Given the description of an element on the screen output the (x, y) to click on. 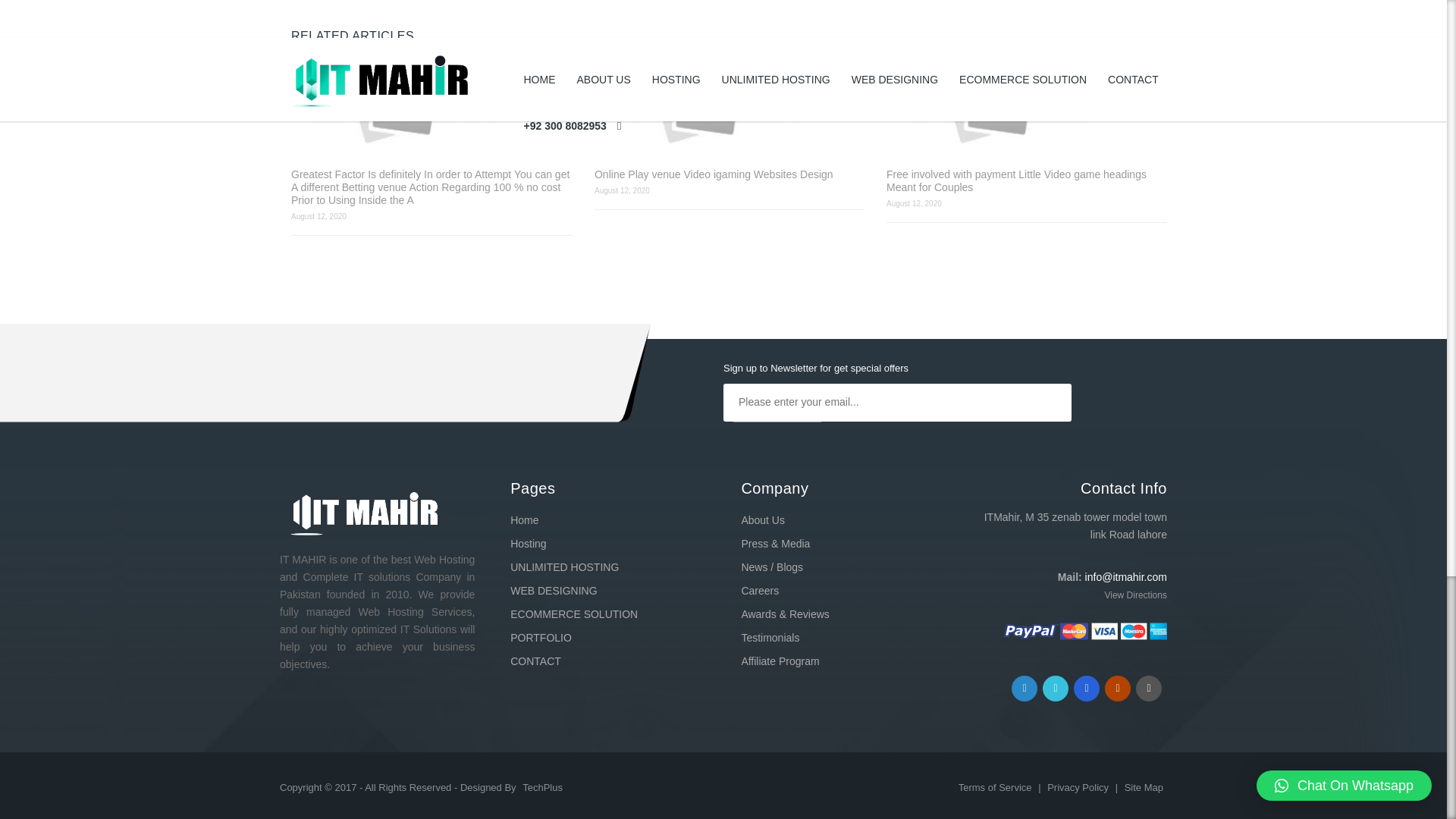
Permalink to Online Play venue Video igaming Websites Design (728, 102)
Online Play venue Video igaming Websites Design (728, 174)
Permalink to Online Play venue Video igaming Websites Design (728, 174)
Sign Up (777, 440)
